Given the description of an element on the screen output the (x, y) to click on. 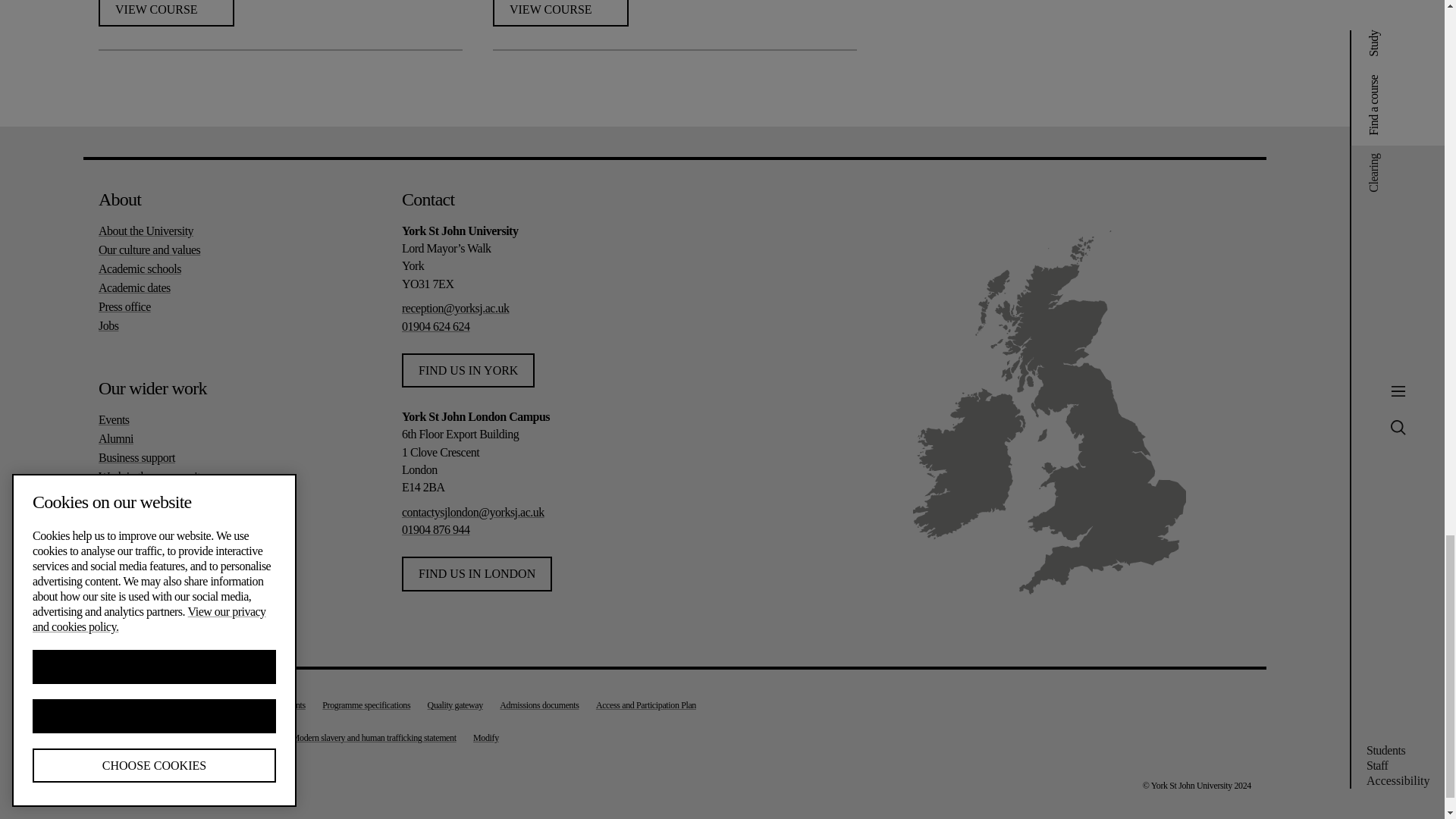
TikTok (186, 618)
Instagram (151, 618)
Our London campus on Google Maps (1144, 525)
York map marker (1127, 429)
Our York campus on Google Maps (1127, 429)
YouTube (220, 618)
LinkedIn (256, 618)
Facebook (115, 618)
York St John University logo (1166, 212)
York St John University home (1166, 212)
London map marker (1144, 525)
